Given the description of an element on the screen output the (x, y) to click on. 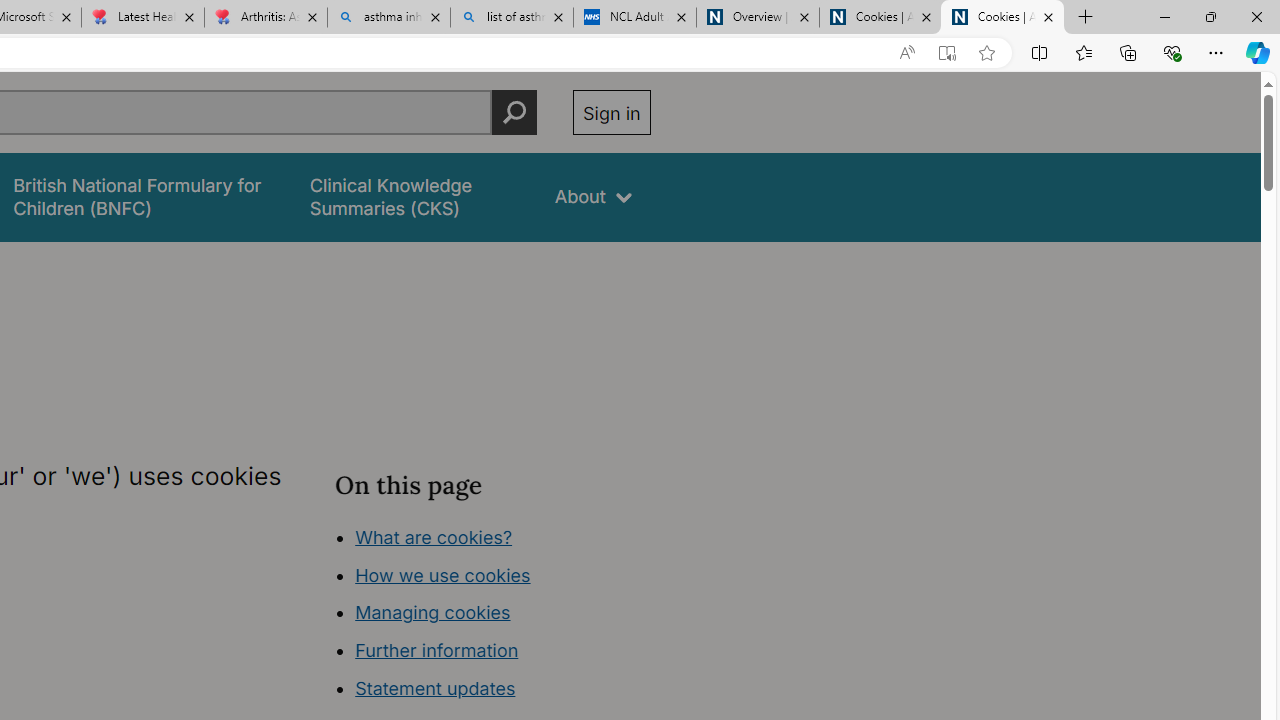
Enter Immersive Reader (F9) (946, 53)
Perform search (514, 112)
